Given the description of an element on the screen output the (x, y) to click on. 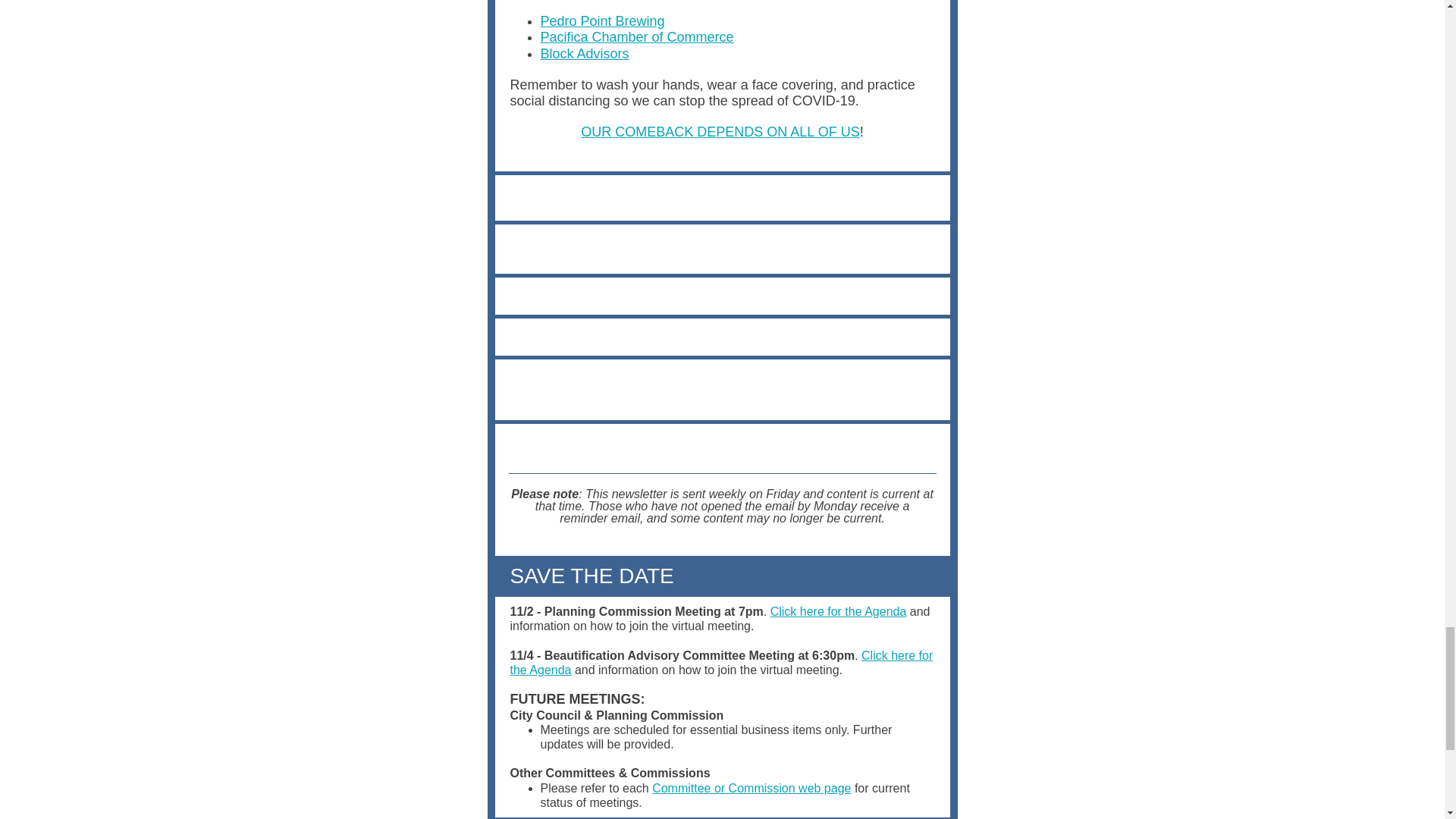
Click here for the Agenda (838, 611)
Block Advisors (584, 53)
Pedro Point Brewing (601, 20)
OUR COMEBACK DEPENDS ON ALL OF US (719, 131)
Click here for the Agenda (721, 662)
Committee or Commission web page (751, 788)
Pacifica Chamber of Commerce (636, 37)
